Given the description of an element on the screen output the (x, y) to click on. 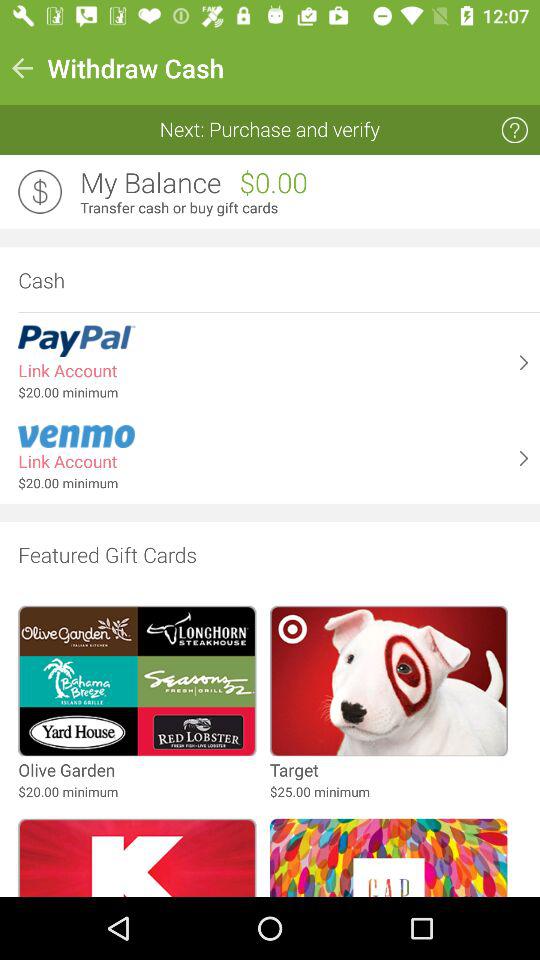
click the item to the left of my balance item (39, 191)
